Given the description of an element on the screen output the (x, y) to click on. 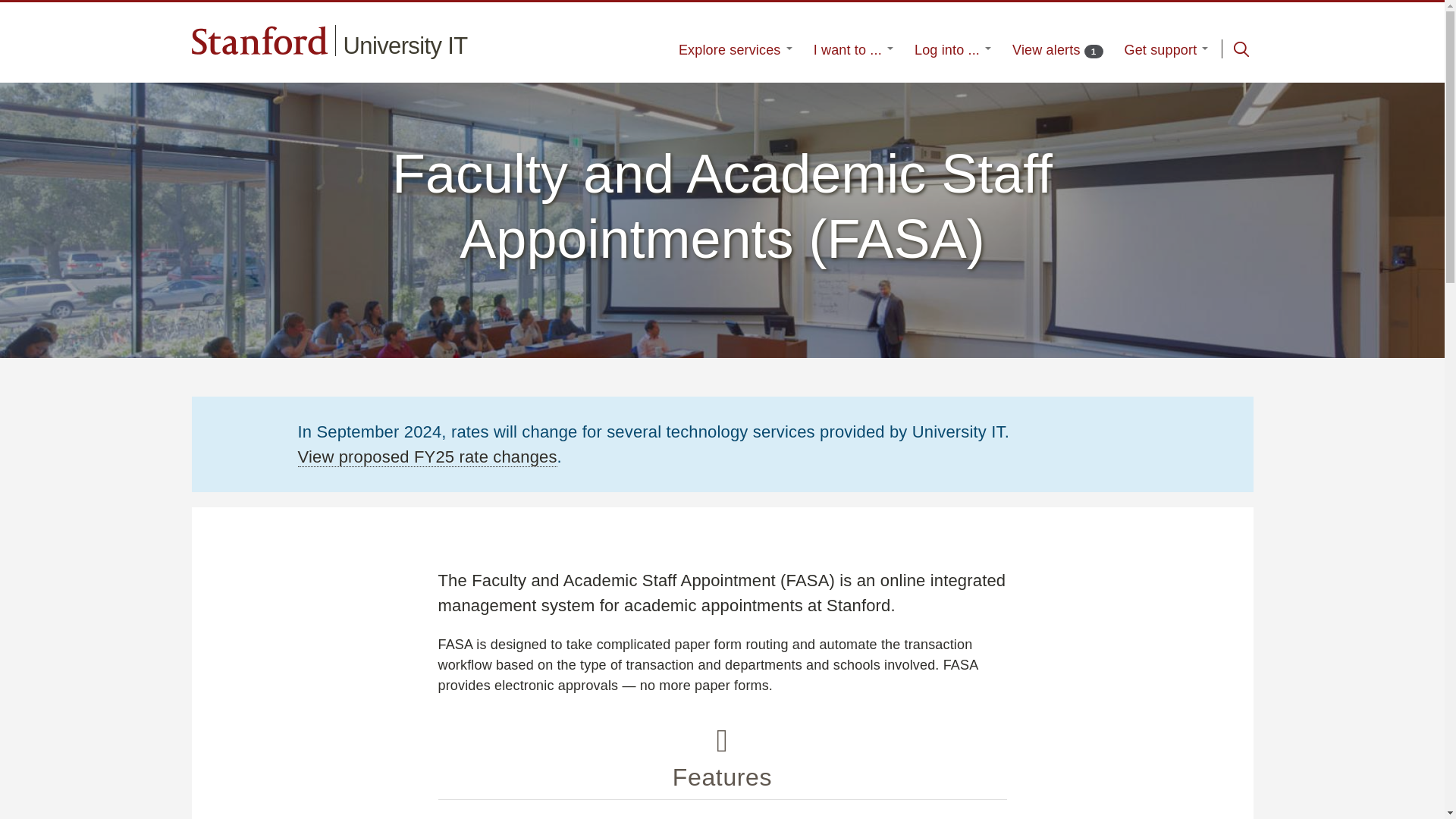
Explore services (735, 50)
View proposed FY25 rate changes (426, 456)
I want to ... (853, 50)
Log into ... (1056, 50)
Skip to content (952, 50)
Skip to site navigation (1241, 48)
Get support (404, 45)
University IT (1166, 50)
Home (404, 45)
